Given the description of an element on the screen output the (x, y) to click on. 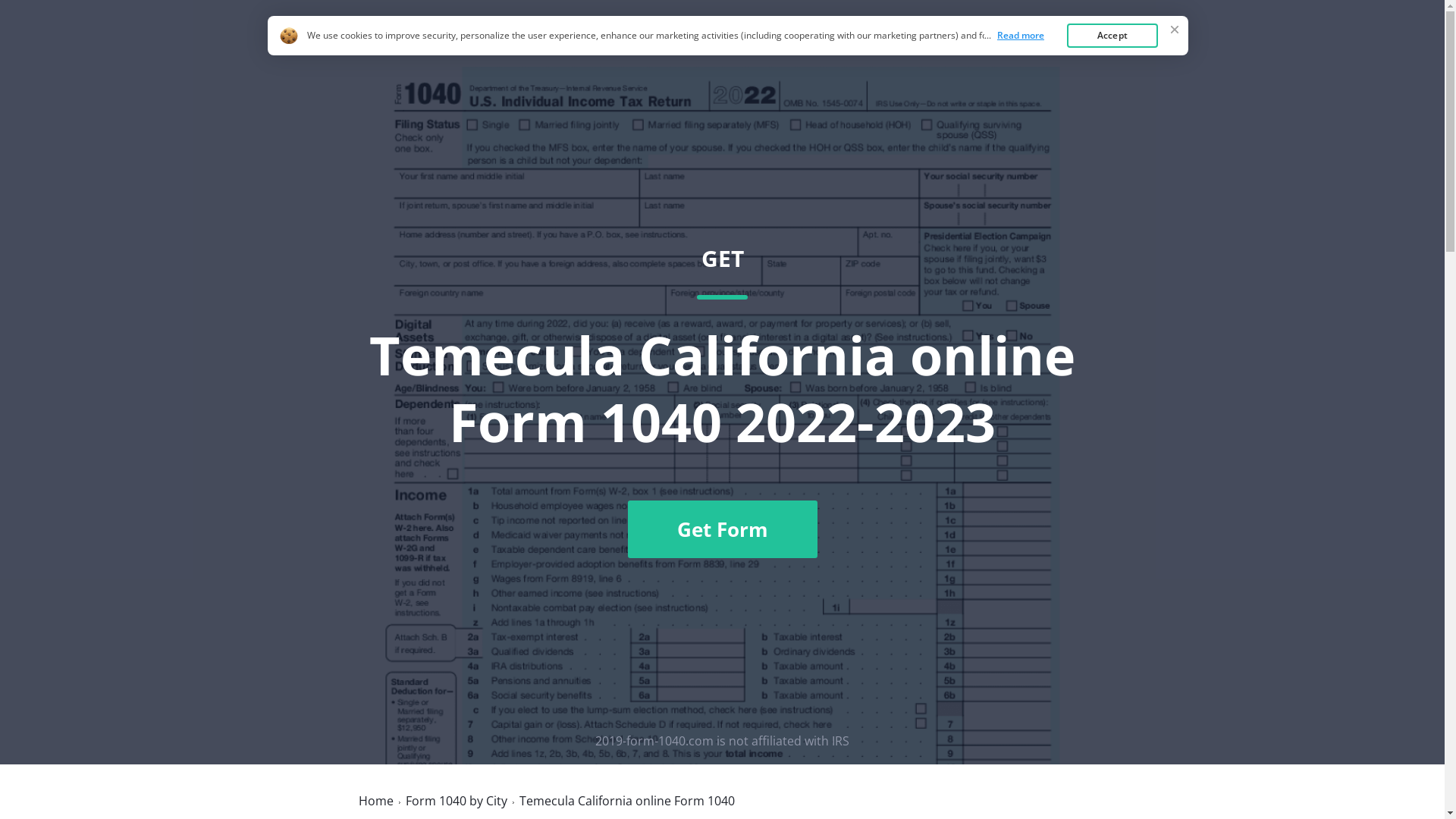
2019 Form 1040 Element type: text (422, 46)
Home Element type: text (986, 47)
Form 1040 by City Element type: text (455, 800)
Accept Element type: text (1111, 35)
Home Element type: text (374, 800)
GET
Temecula California online Form 1040 2022-2023
Get Form Element type: text (721, 400)
Top Forms Element type: text (1062, 47)
